Given the description of an element on the screen output the (x, y) to click on. 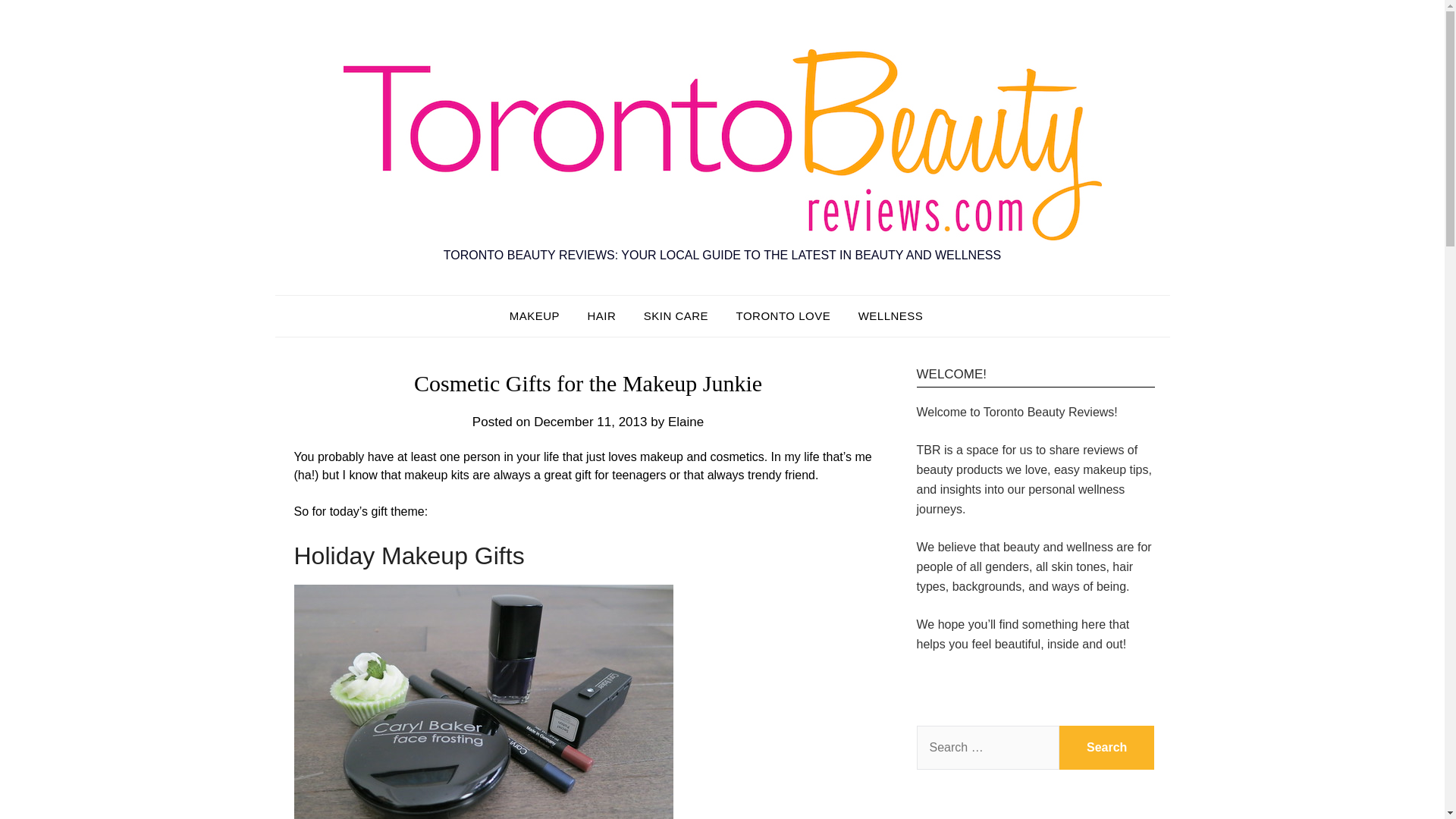
Search (1106, 747)
HAIR (601, 315)
SKIN CARE (675, 315)
December 11, 2013 (590, 421)
Search (1106, 747)
WELLNESS (890, 315)
MAKEUP (540, 315)
Elaine (685, 421)
TORONTO LOVE (783, 315)
